Given the description of an element on the screen output the (x, y) to click on. 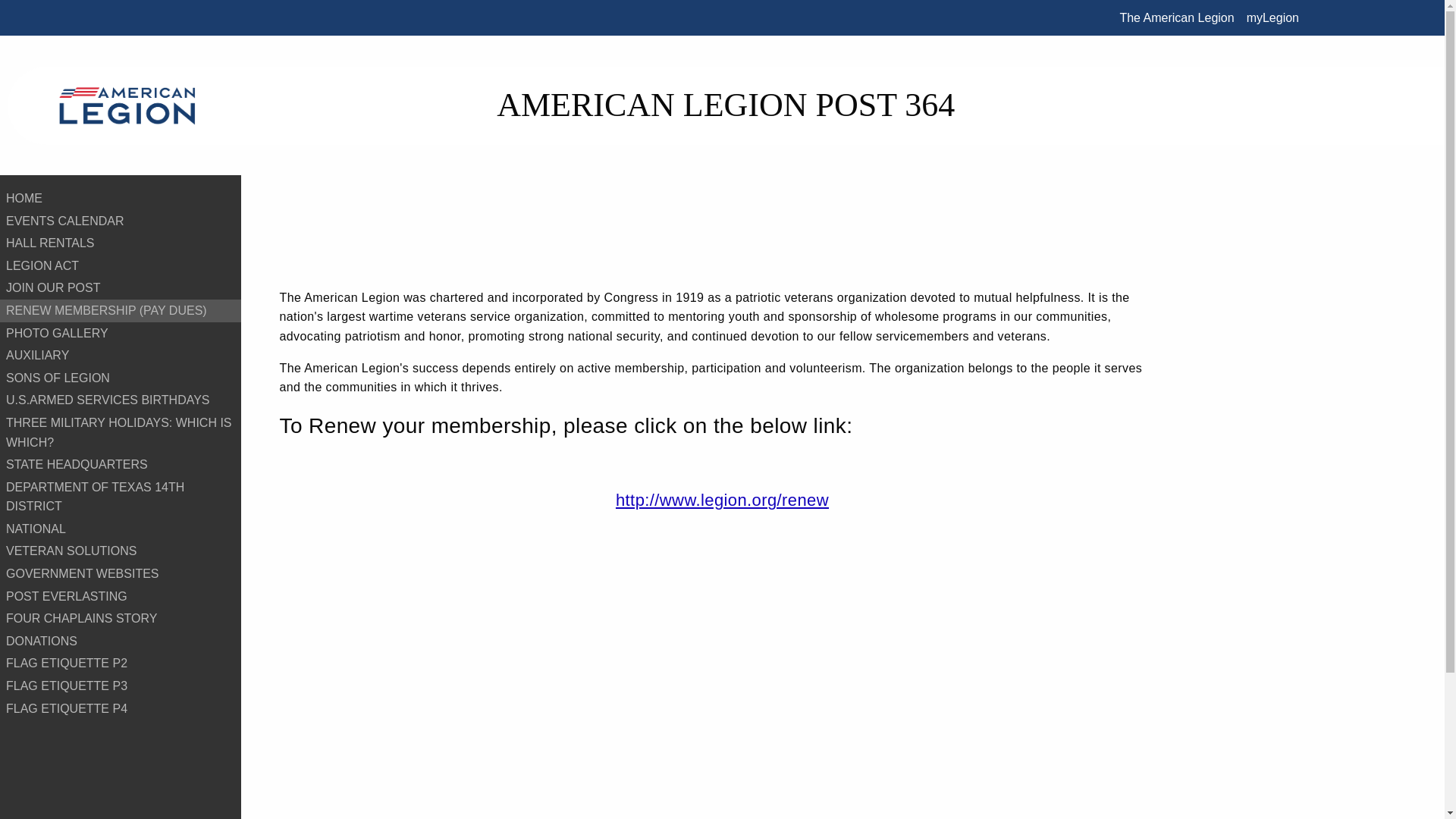
DEPARTMENT OF TEXAS 14TH DISTRICT (120, 496)
HOME (120, 198)
SONS OF LEGION (120, 377)
POST EVERLASTING (120, 596)
FLAG ETIQUETTE P2 (120, 662)
LEGION ACT (120, 265)
VETERAN SOLUTIONS (120, 550)
EVENTS CALENDAR (120, 220)
FLAG ETIQUETTE P4 (120, 708)
U.S.ARMED SERVICES BIRTHDAYS (120, 400)
PHOTO GALLERY (120, 333)
The American Legion (1176, 17)
HALL RENTALS (120, 242)
myLegion (1272, 17)
JOIN OUR POST (120, 287)
